Given the description of an element on the screen output the (x, y) to click on. 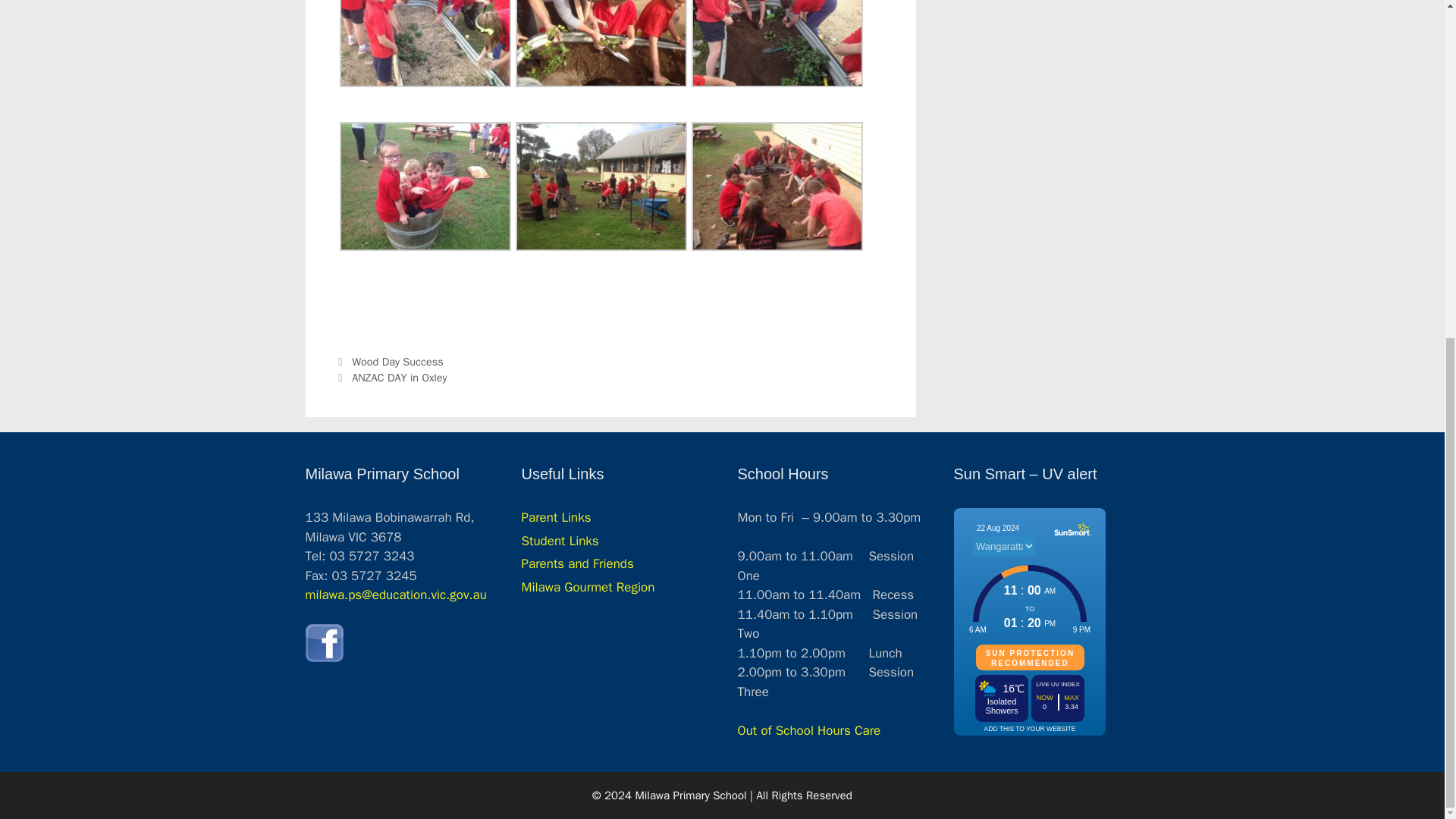
Parent Links (556, 517)
Student Links (559, 540)
Wood Day Success (398, 361)
ANZAC DAY in Oxley (399, 377)
Milawa Gourmet Region (588, 587)
Out of School Hours Care (808, 730)
Parents and Friends (577, 563)
